Given the description of an element on the screen output the (x, y) to click on. 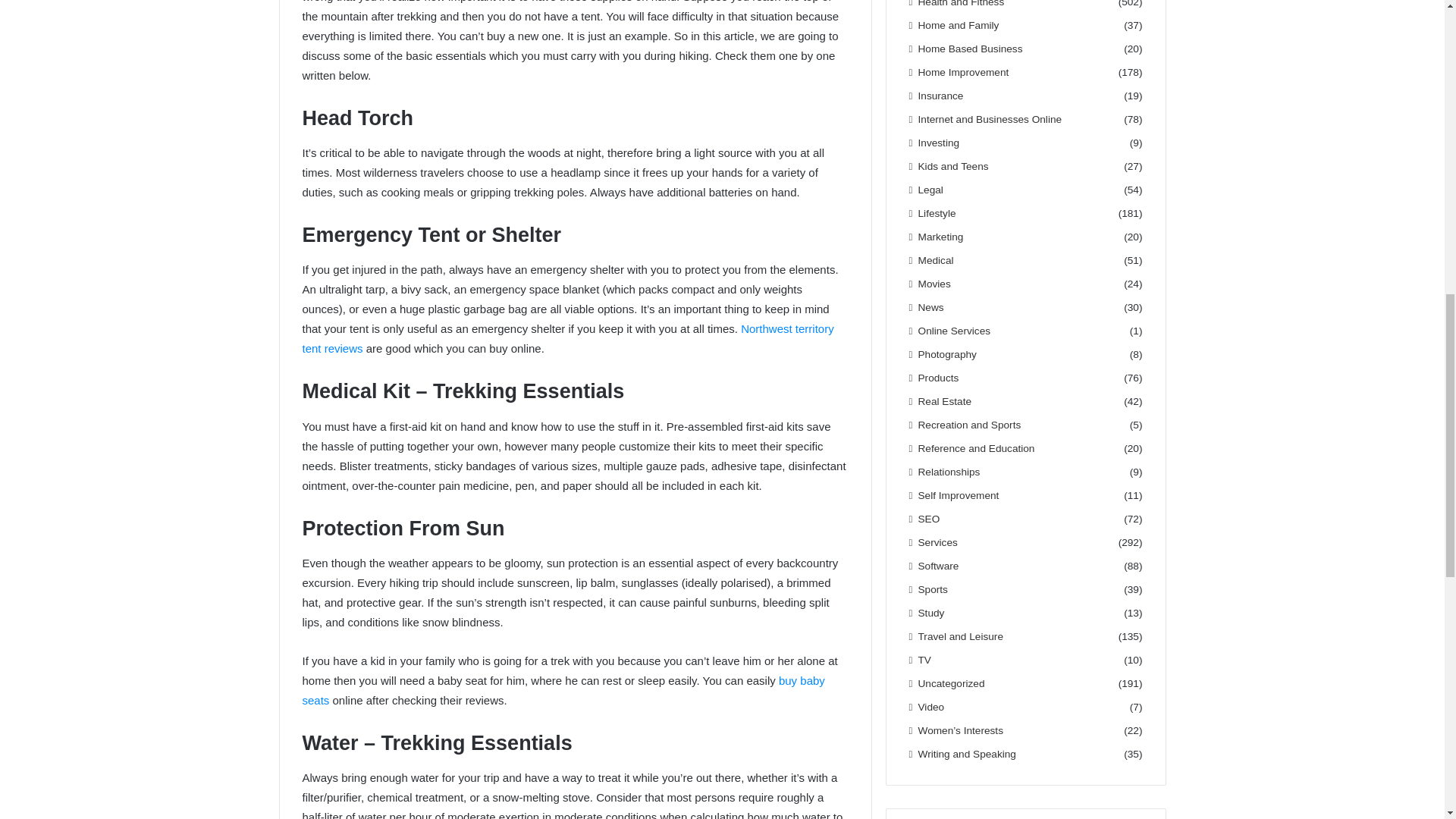
buy baby seats (562, 690)
Northwest territory tent reviews (566, 338)
